Given the description of an element on the screen output the (x, y) to click on. 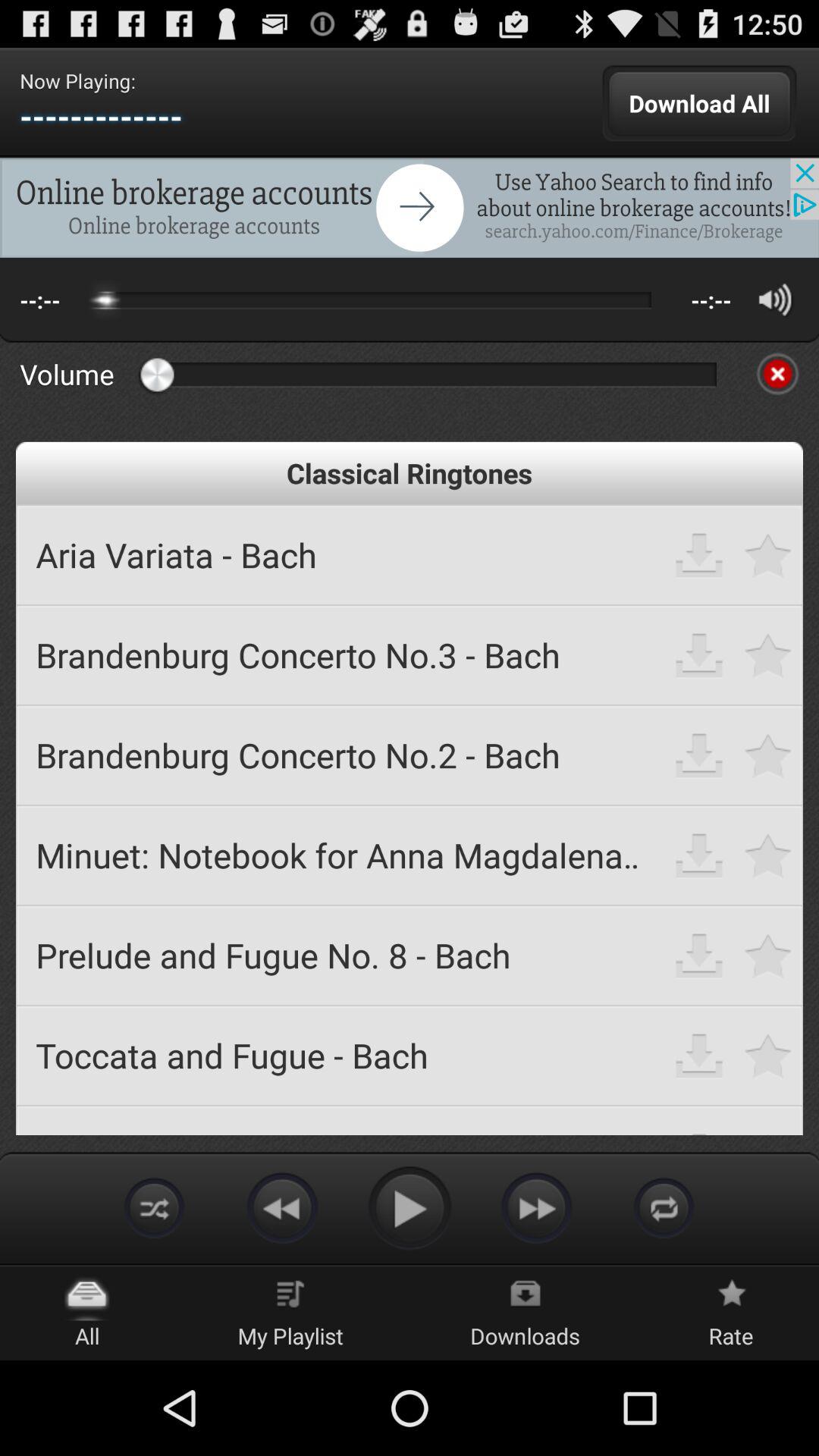
volume (775, 299)
